Given the description of an element on the screen output the (x, y) to click on. 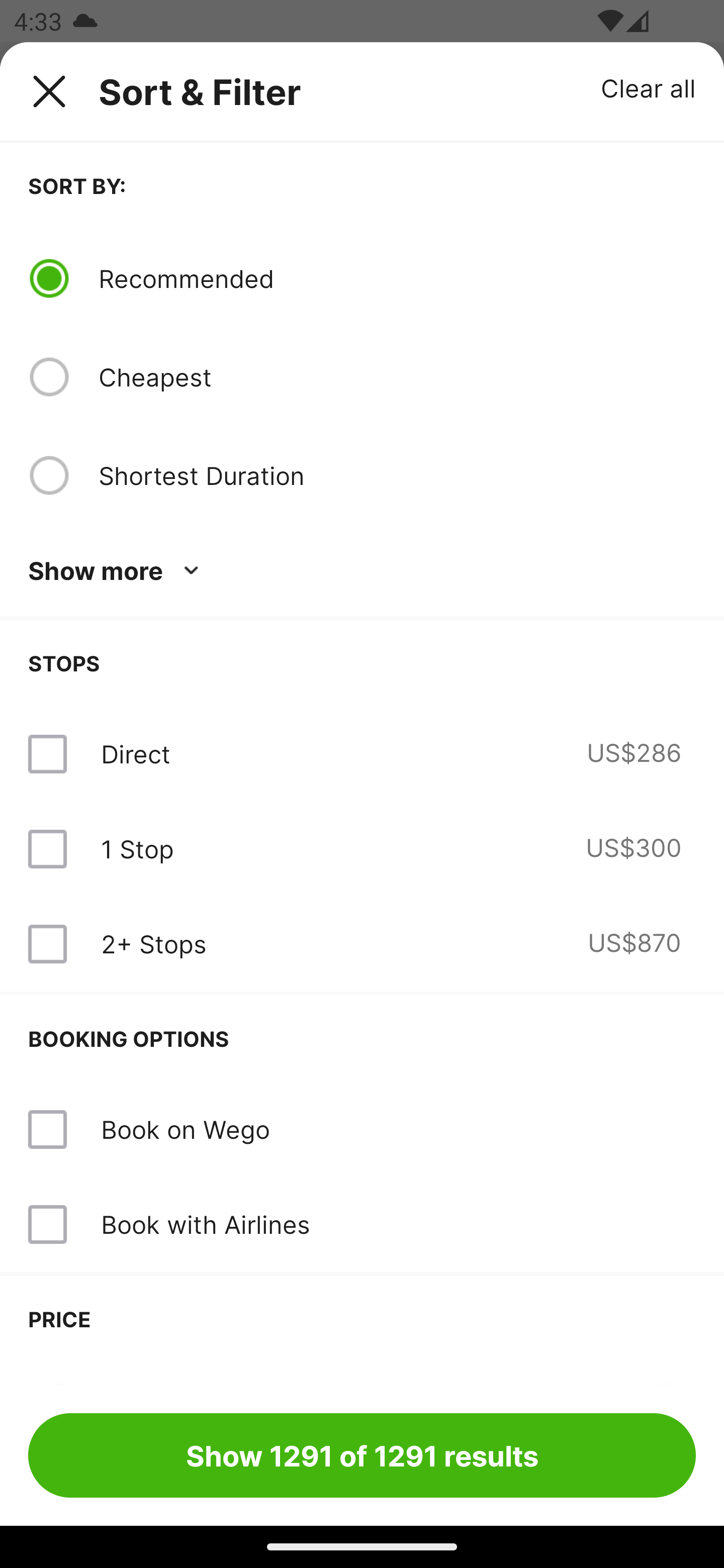
Clear all (648, 87)
Recommended  (396, 278)
Cheapest (396, 377)
Shortest Duration (396, 474)
Show more (116, 570)
Direct US$286 (362, 754)
Direct (135, 753)
1 Stop US$300 (362, 848)
1 Stop (136, 849)
2+ Stops US$870 (362, 943)
2+ Stops (153, 943)
Book on Wego (362, 1129)
Book on Wego (184, 1128)
Book with Airlines (362, 1224)
Book with Airlines (204, 1224)
Show 1291 of 1291 results (361, 1454)
